Given the description of an element on the screen output the (x, y) to click on. 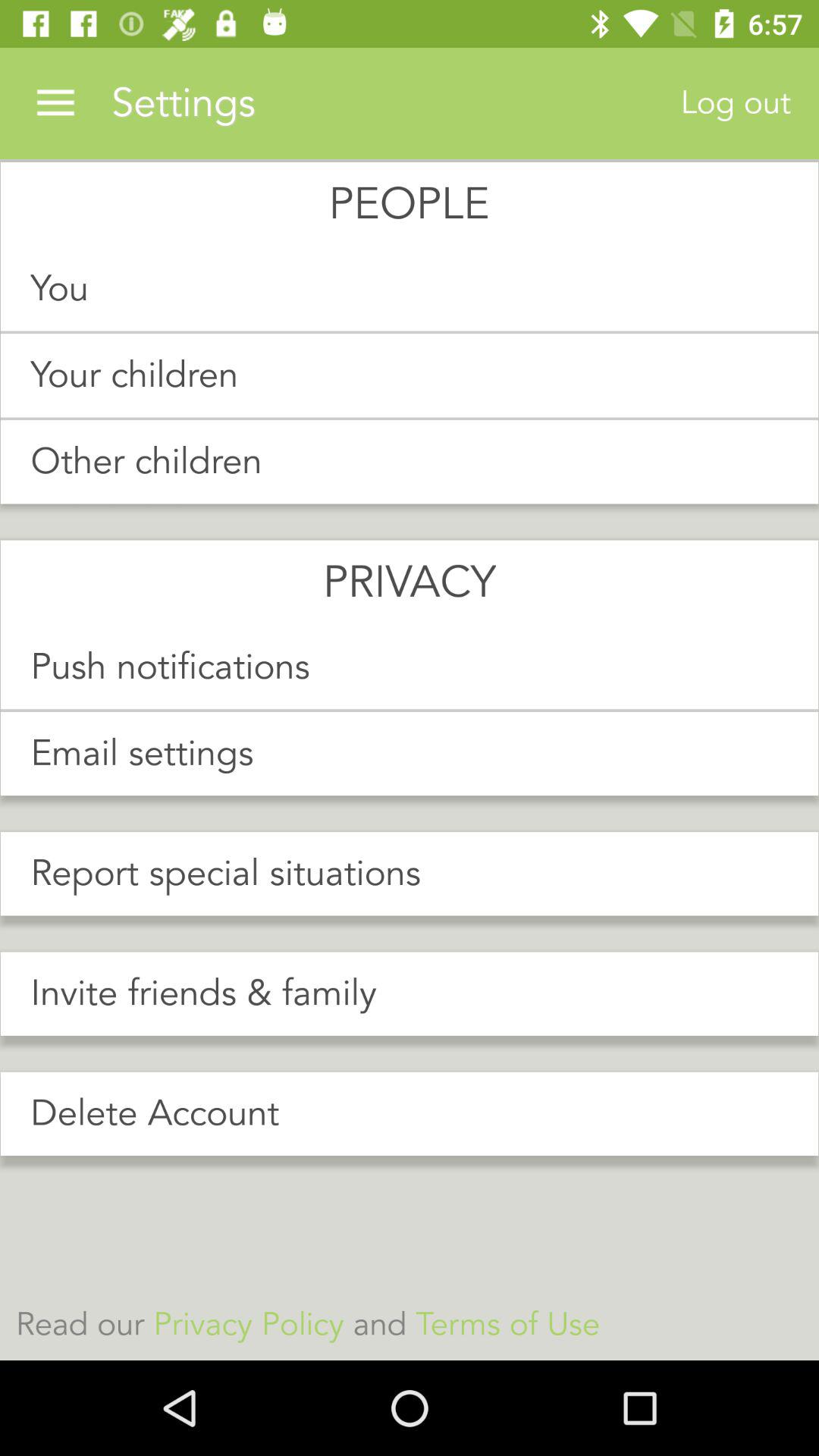
click log out at the top right corner (735, 102)
